Given the description of an element on the screen output the (x, y) to click on. 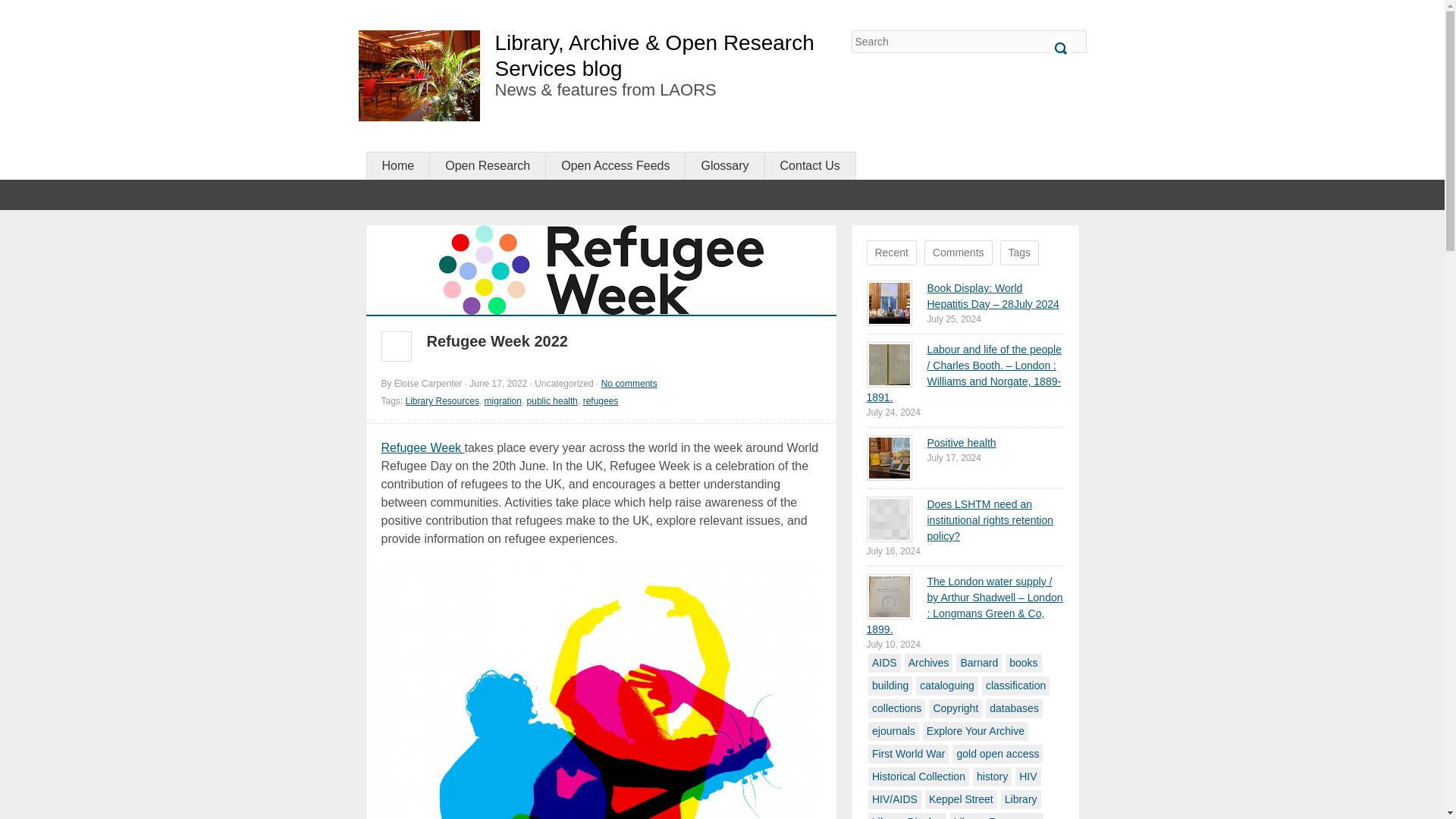
Search (1059, 47)
migration (502, 400)
Open Research (486, 165)
refugees (600, 400)
Library Resources (442, 400)
Home (397, 165)
Contact Us (810, 165)
No comments (629, 383)
public health (552, 400)
Permalink to Positive health (888, 457)
Search (1059, 47)
Permalink to Positive health (960, 442)
Open Access Feeds (615, 165)
